Given the description of an element on the screen output the (x, y) to click on. 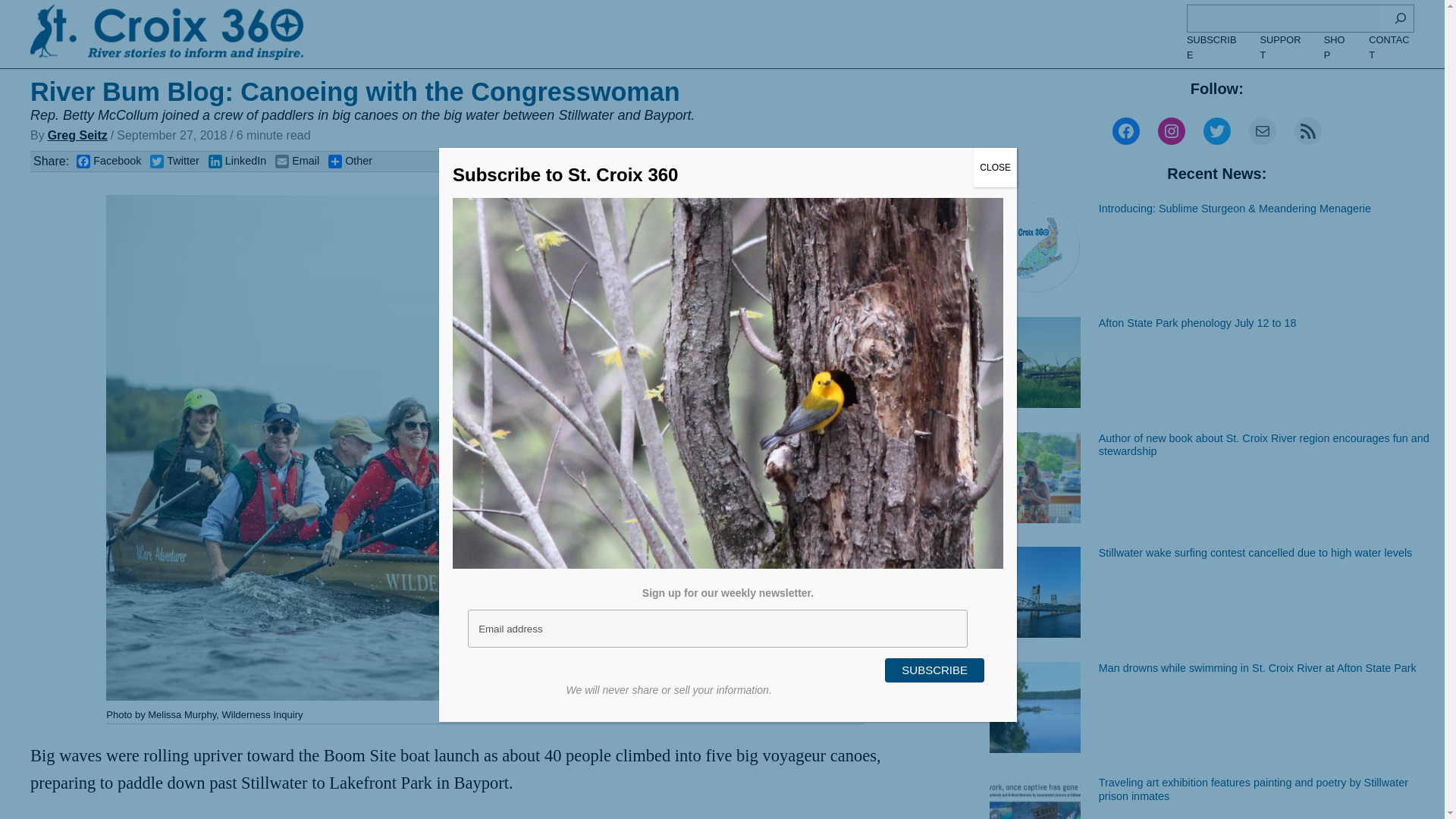
Facebook (108, 161)
Afton State Park phenology July 12 to 18 (1198, 323)
Mail (1262, 130)
Greg Seitz (77, 134)
Other (350, 161)
SUPPORT (1281, 47)
Twitter (1217, 130)
SUBSCRIBE (1213, 47)
RSS Feed (1308, 130)
SHOP (1337, 47)
Email (296, 161)
Twitter (174, 161)
